Given the description of an element on the screen output the (x, y) to click on. 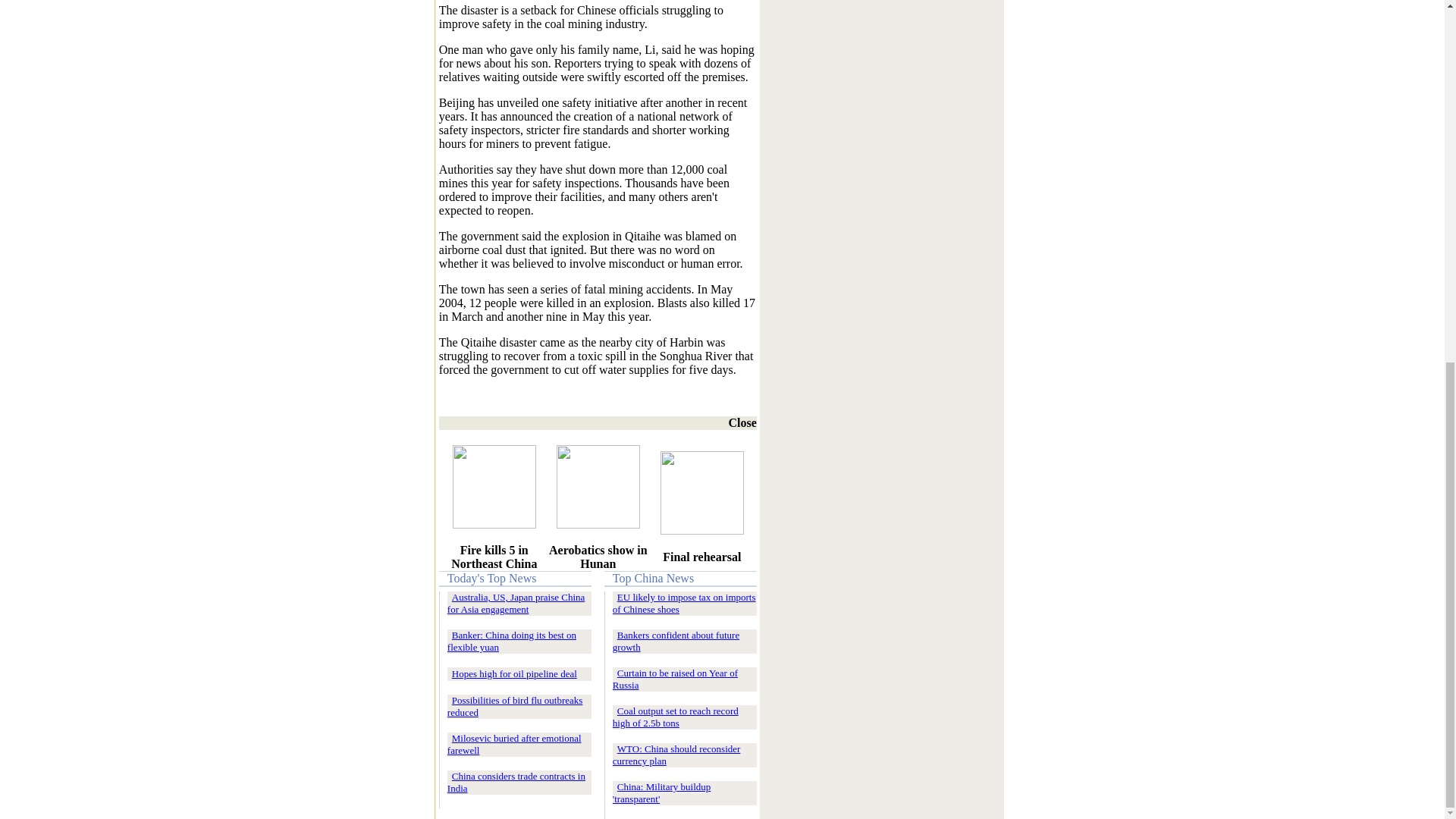
Bankers confident about future growth (675, 640)
Possibilities of bird flu outbreaks reduced (514, 706)
WTO: China should reconsider currency plan (676, 754)
China considers trade contracts in India (515, 781)
Milosevic buried after emotional farewell (513, 743)
Curtain to be raised on Year of Russia (675, 679)
Close (736, 422)
Coal output set to reach record high of 2.5b tons (675, 716)
Banker: China doing its best on flexible yuan (511, 640)
Hopes high for oil pipeline deal (513, 673)
EU likely to impose tax on imports of Chinese shoes (683, 603)
Australia, US, Japan praise China for Asia engagement (515, 603)
China: Military buildup 'transparent' (661, 792)
